Given the description of an element on the screen output the (x, y) to click on. 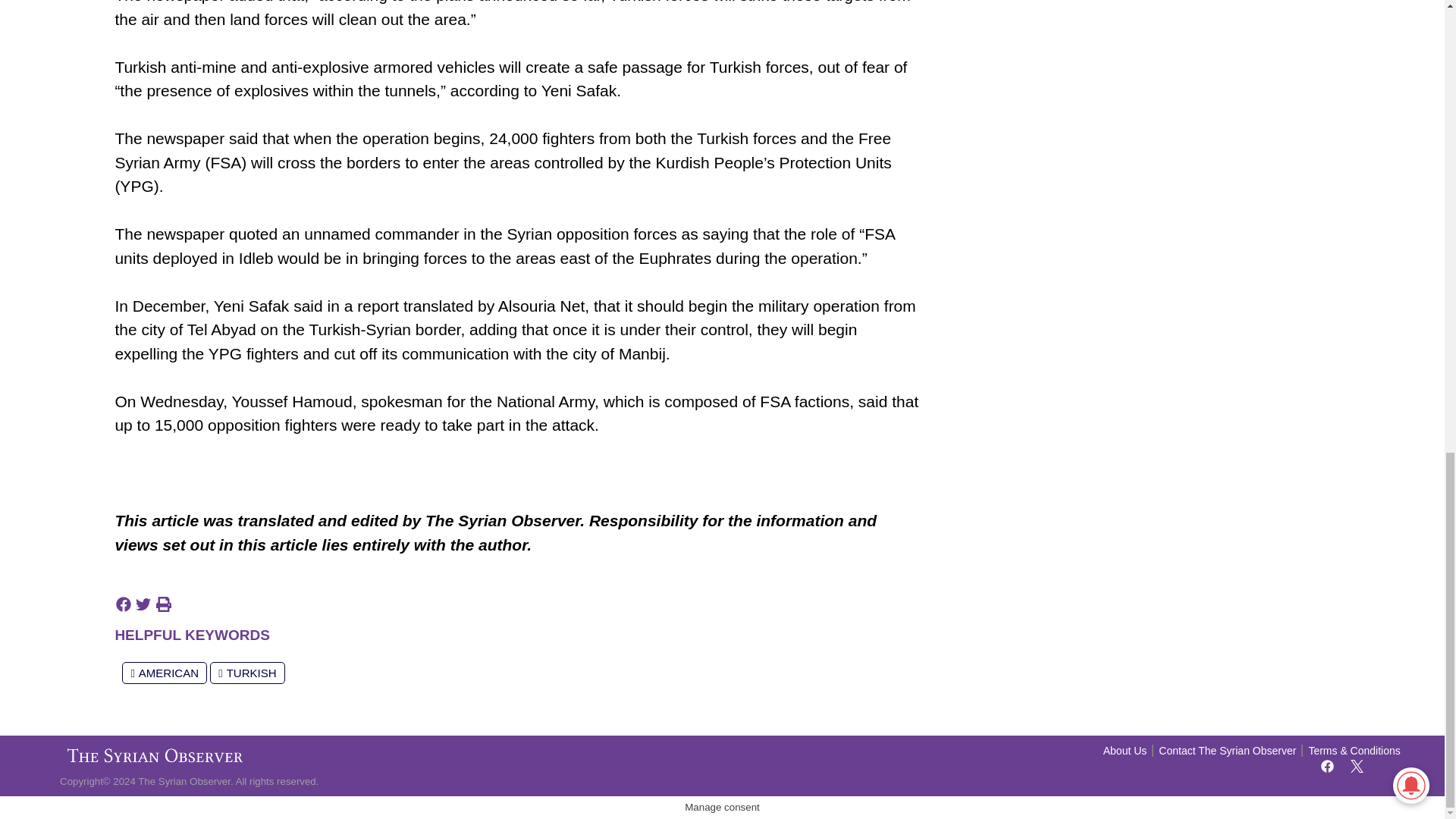
TURKISH (246, 672)
AMERICAN (164, 672)
About Us (1125, 750)
Contact The Syrian Observer (1227, 750)
